Given the description of an element on the screen output the (x, y) to click on. 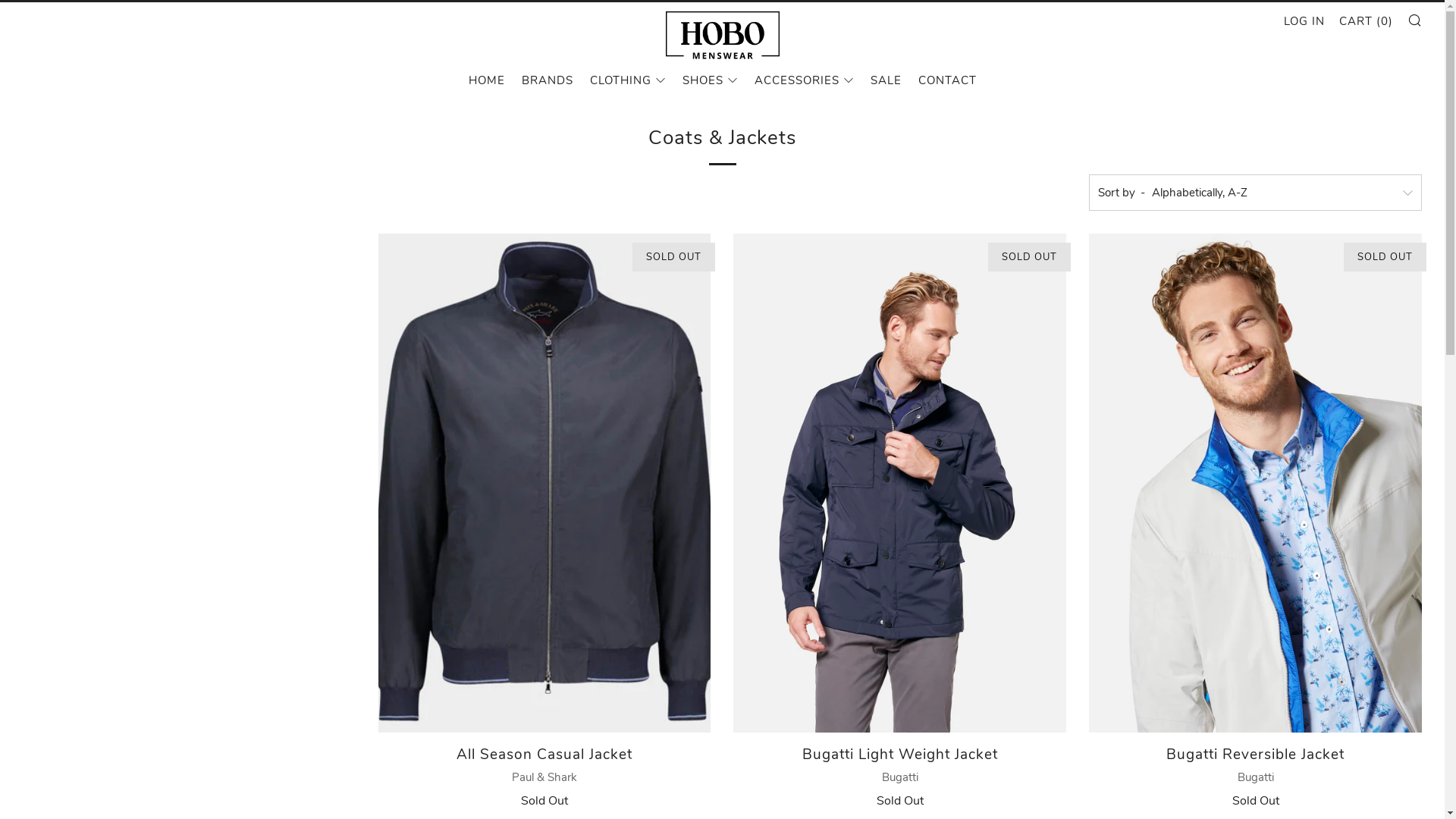
Bugatti Reversible Jacket
Bugatti
Sold Out Element type: text (1254, 773)
CART (0) Element type: text (1366, 21)
SEARCH Element type: text (1414, 19)
All Season Casual Jacket
Paul & Shark
Sold Out Element type: text (544, 773)
HOME Element type: text (486, 80)
SHOES Element type: text (709, 80)
ACCESSORIES Element type: text (803, 80)
Bugatti Light Weight Jacket
Bugatti
Sold Out Element type: text (899, 773)
All Season Casual Jacket Element type: hover (544, 482)
BRANDS Element type: text (547, 80)
CLOTHING Element type: text (627, 80)
LOG IN Element type: text (1303, 21)
Bugatti Light Weight Jacket Element type: hover (899, 482)
Bugatti Reversible Jacket Element type: hover (1254, 482)
SALE Element type: text (885, 80)
CONTACT Element type: text (946, 80)
